Given the description of an element on the screen output the (x, y) to click on. 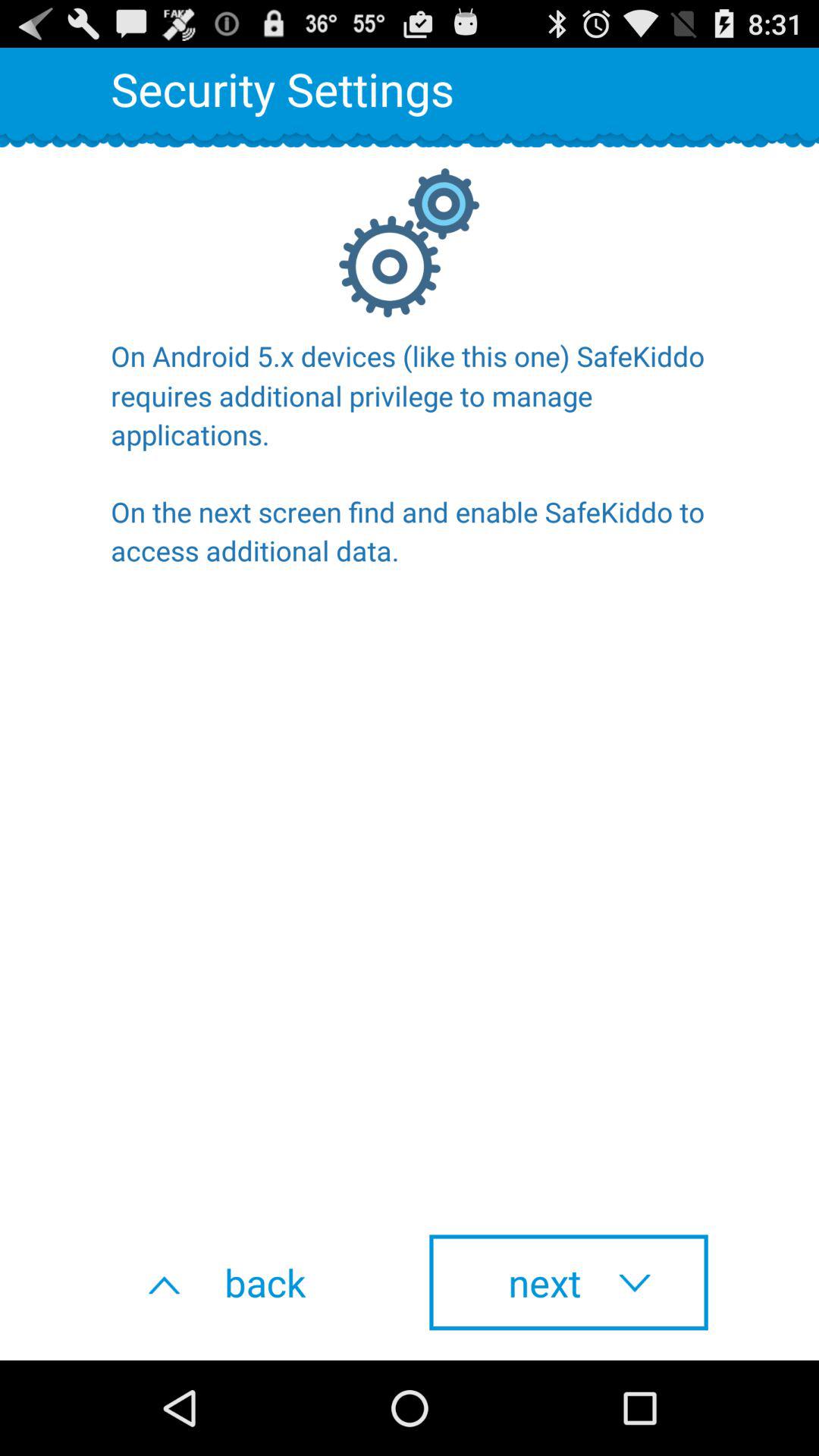
choose the icon below the on android 5 item (249, 1282)
